Given the description of an element on the screen output the (x, y) to click on. 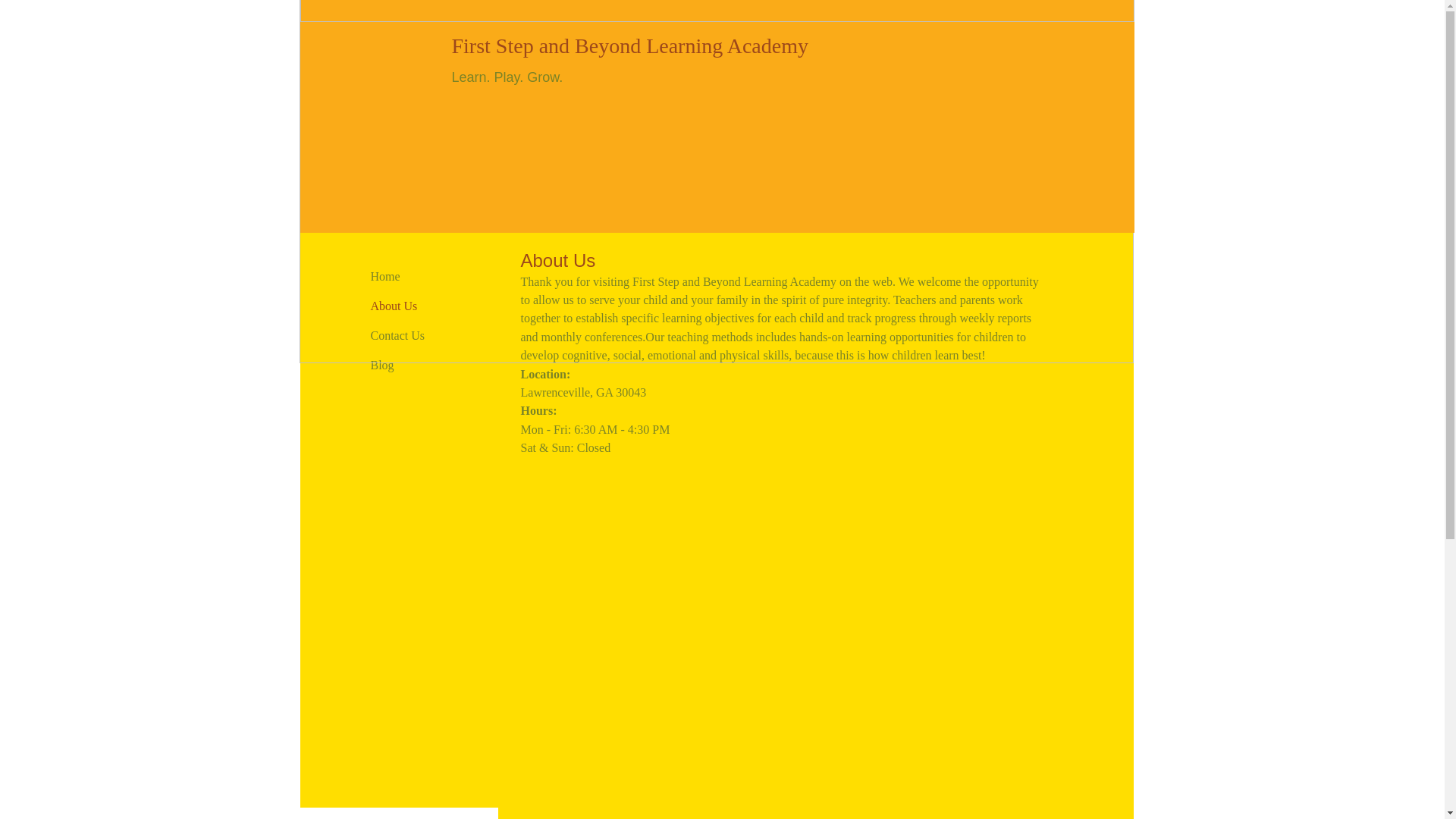
Contact Us Element type: text (397, 335)
Home Element type: text (384, 276)
Google Maps Element type: hover (780, 616)
Blog Element type: text (381, 365)
About Us Element type: text (393, 306)
